Given the description of an element on the screen output the (x, y) to click on. 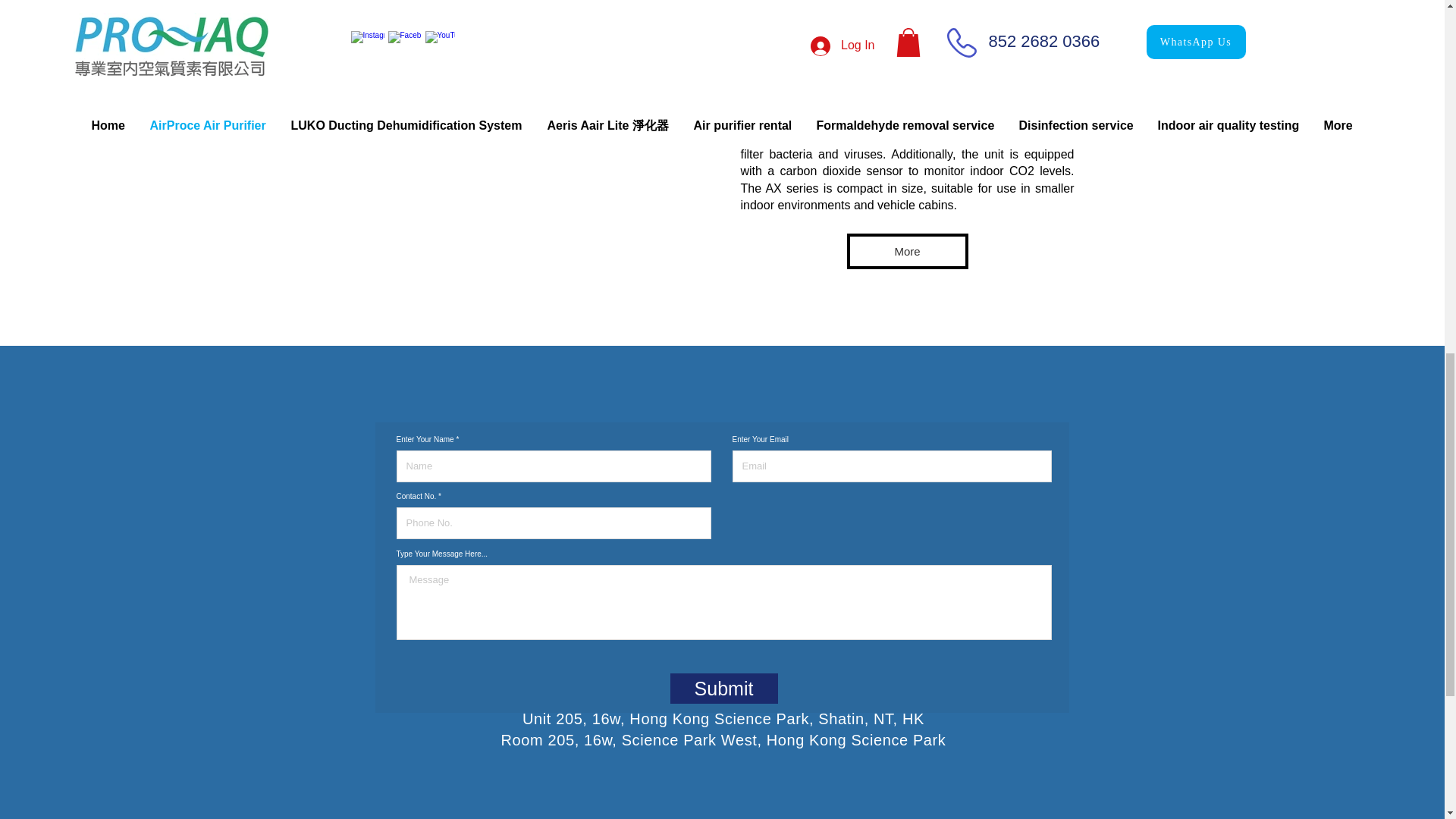
Submit (723, 688)
More (534, 15)
More (906, 251)
